Given the description of an element on the screen output the (x, y) to click on. 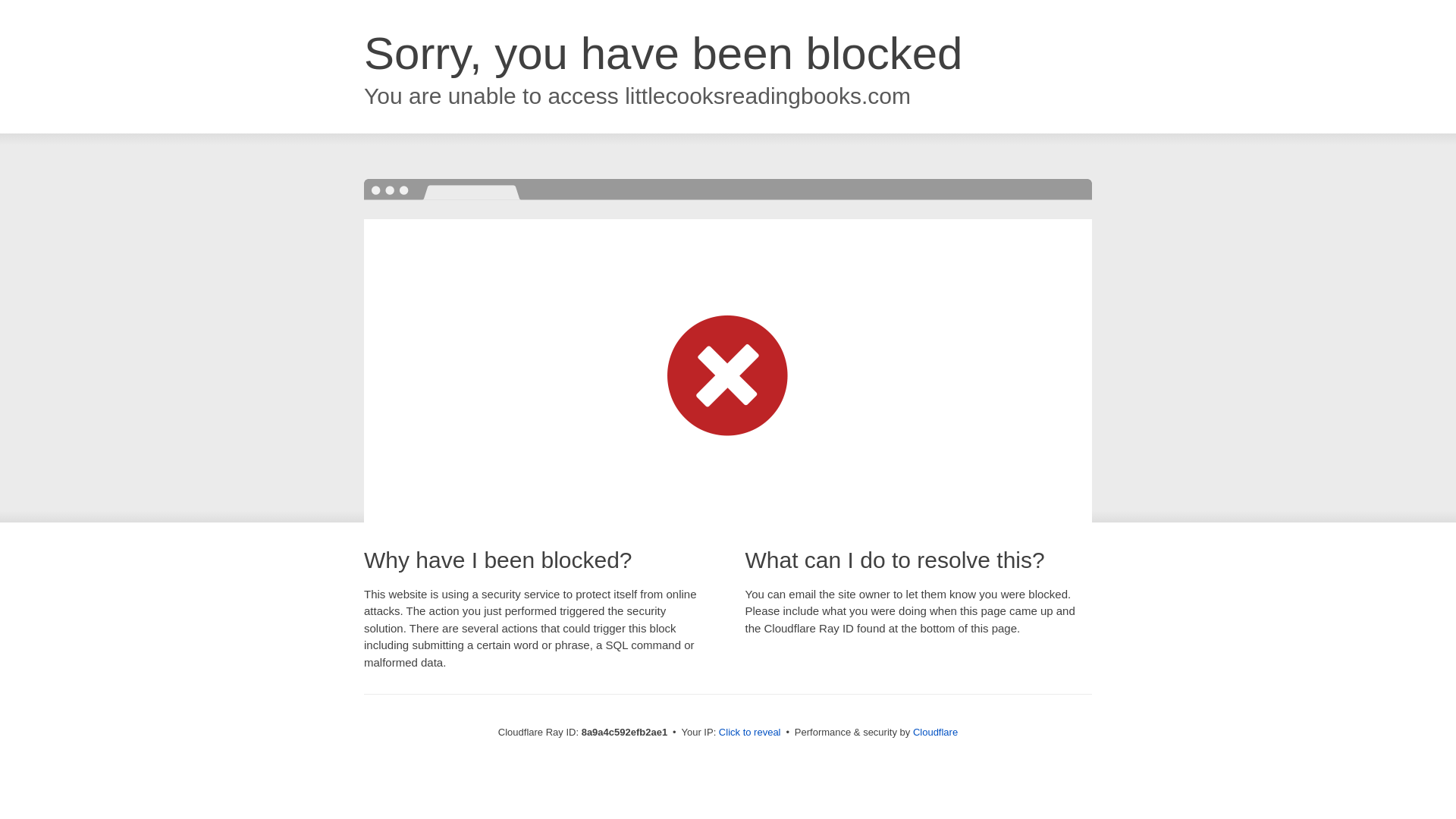
Cloudflare (935, 731)
Click to reveal (749, 732)
